Given the description of an element on the screen output the (x, y) to click on. 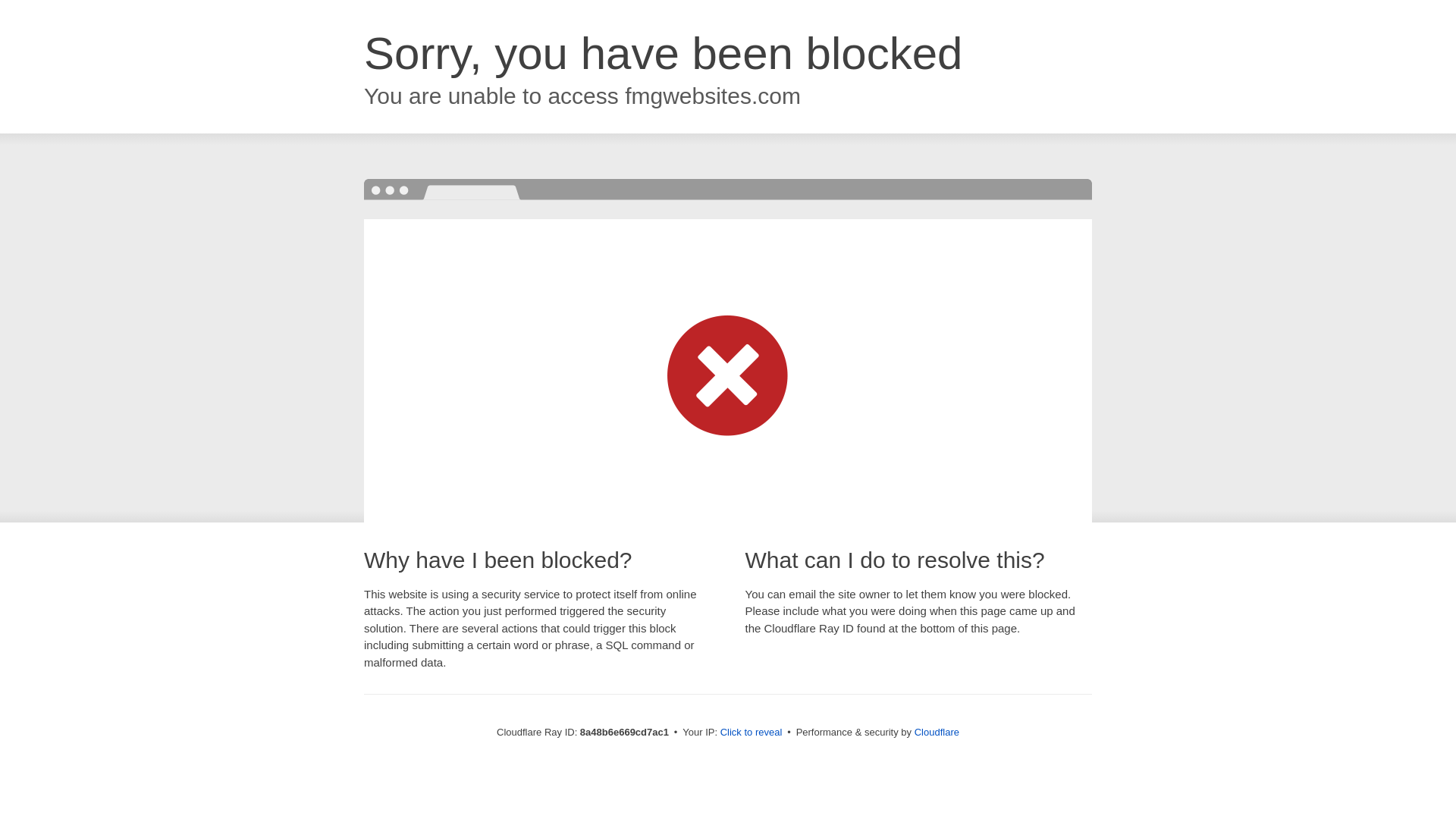
Click to reveal (751, 732)
Cloudflare (936, 731)
